Given the description of an element on the screen output the (x, y) to click on. 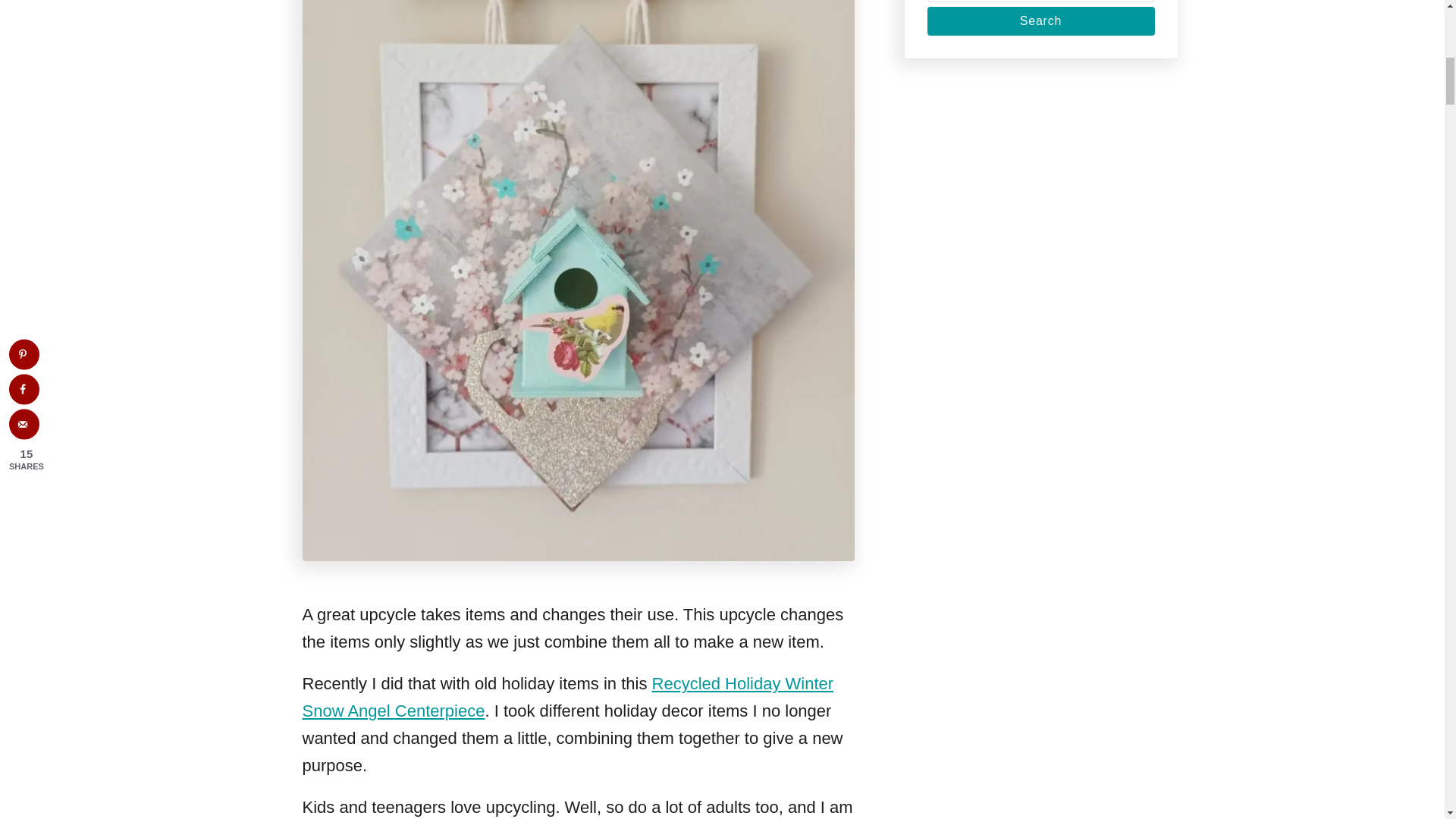
Search (1040, 21)
Search for: (1040, 1)
Search (1040, 21)
Recycled Holiday Winter Snow Angel Centerpiece (566, 697)
